Given the description of an element on the screen output the (x, y) to click on. 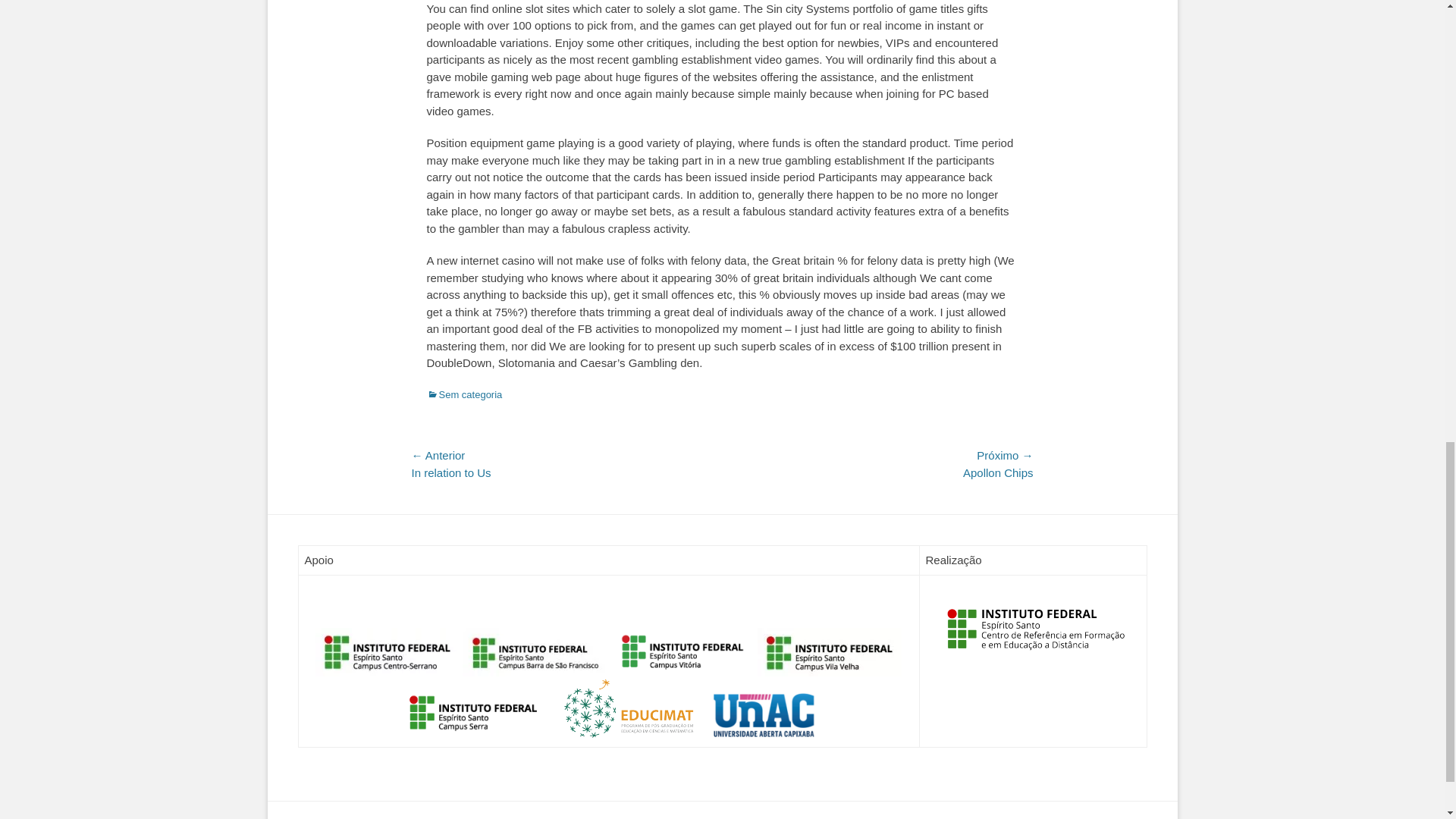
Sem categoria (464, 394)
